Given the description of an element on the screen output the (x, y) to click on. 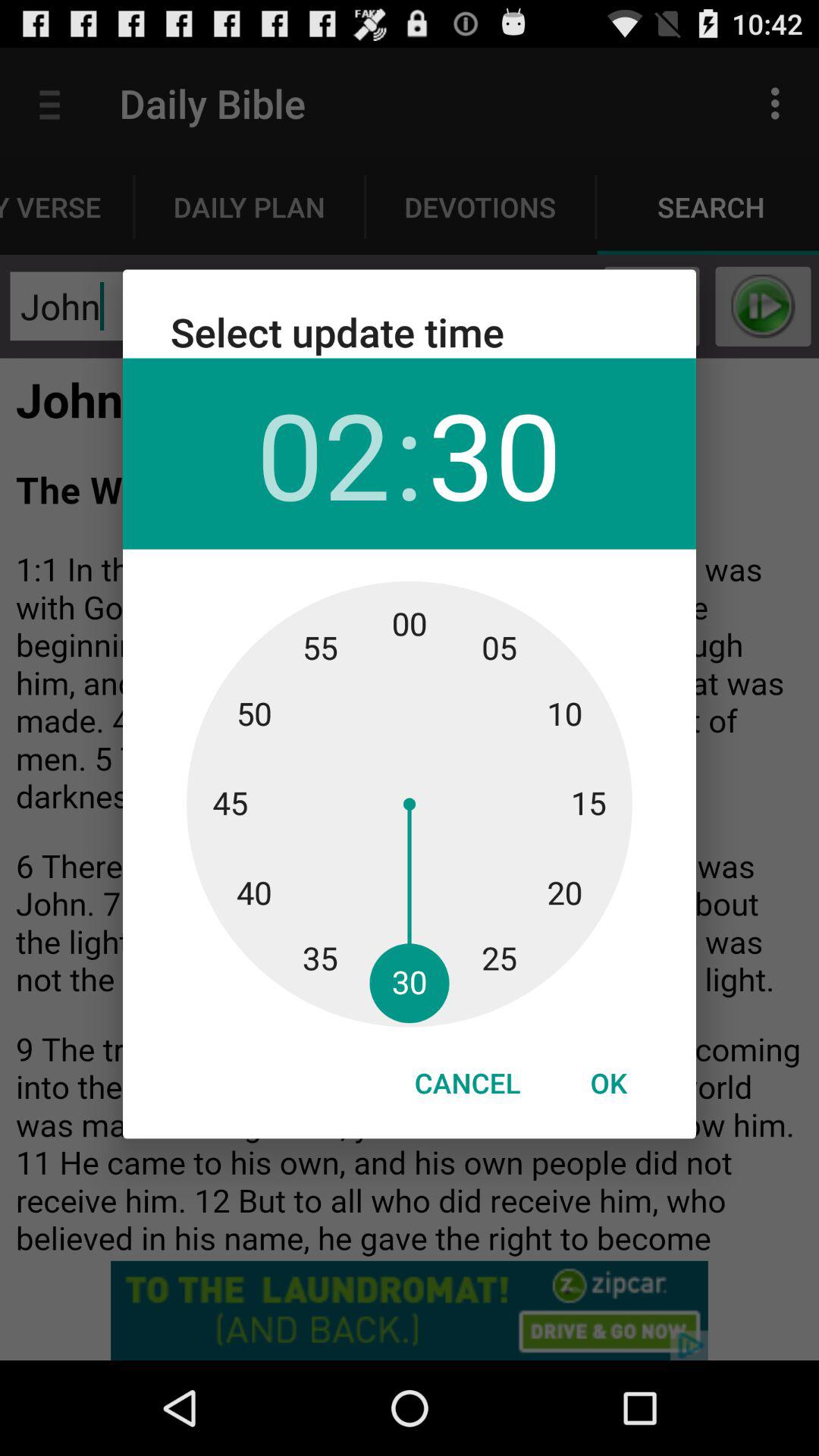
press the ok item (608, 1082)
